Given the description of an element on the screen output the (x, y) to click on. 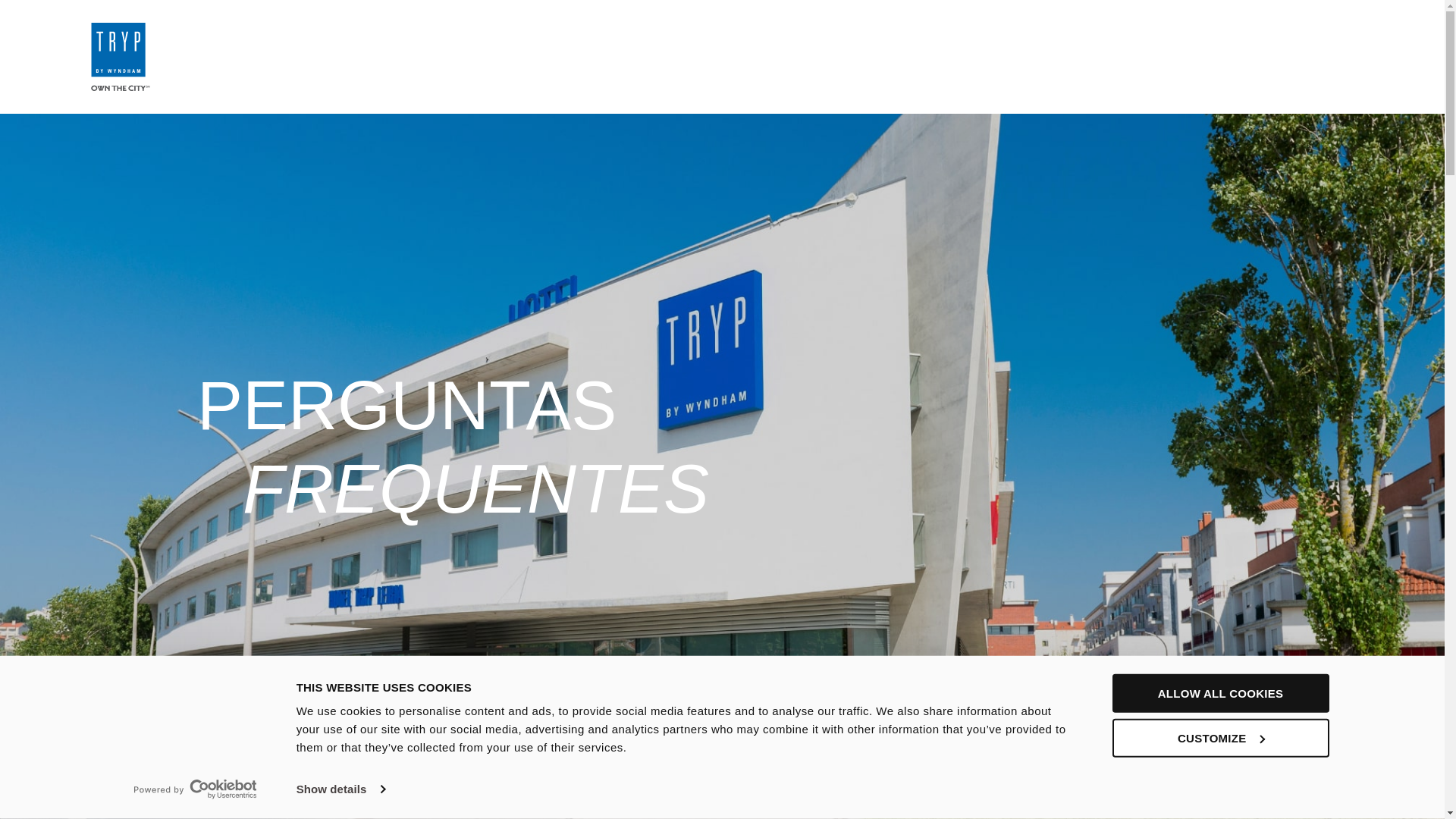
Restaurante e Bar (1112, 56)
Show details (340, 789)
PT (1261, 56)
CUSTOMIZE (1219, 737)
Quartos e Suites (810, 56)
ALLOW ALL COOKIES (1219, 693)
